Given the description of an element on the screen output the (x, y) to click on. 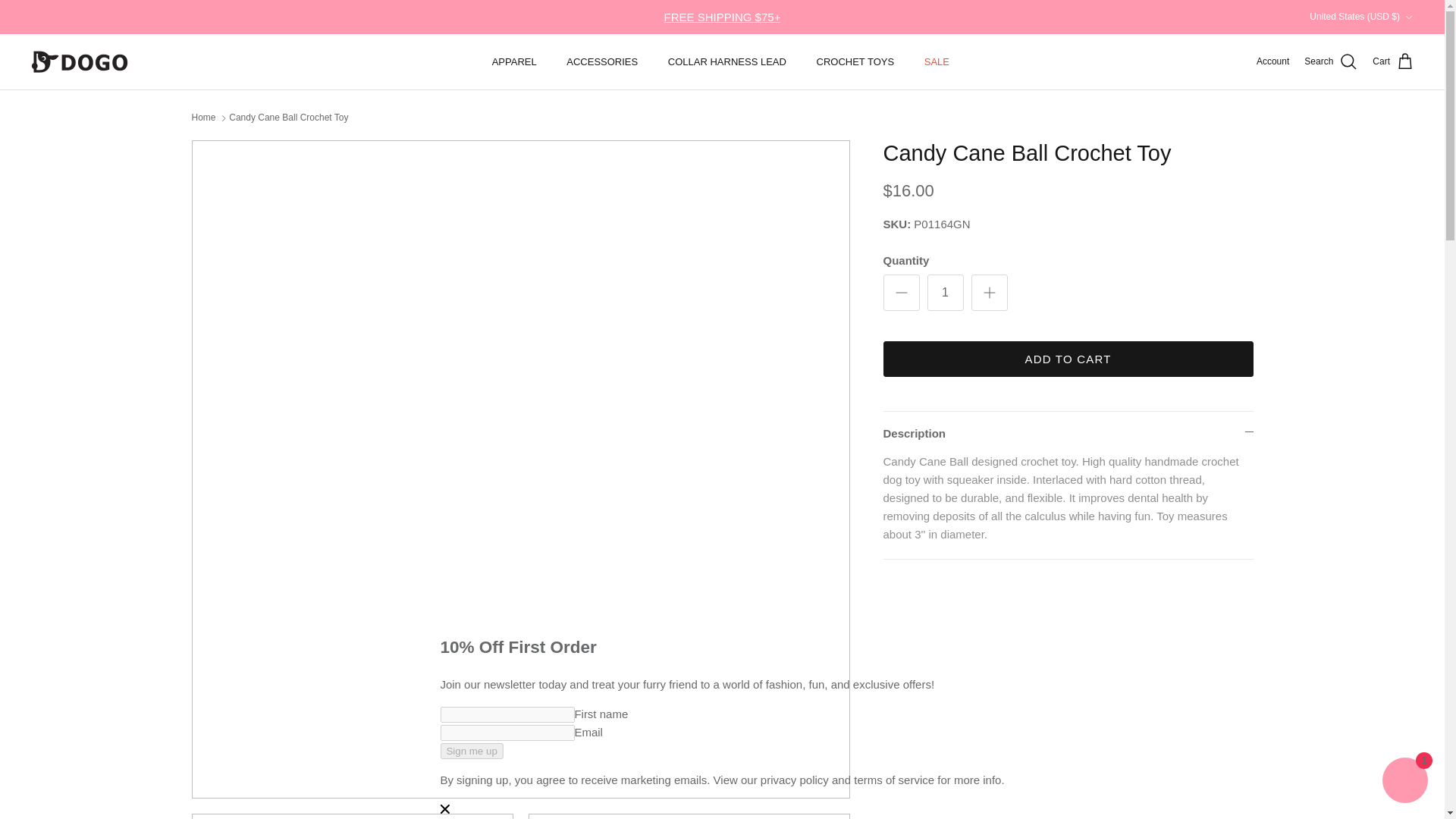
Plus (988, 292)
Minus (900, 292)
Shopify online store chat (1404, 781)
1 (944, 292)
DogoPet.com (79, 61)
Down (1408, 17)
